Given the description of an element on the screen output the (x, y) to click on. 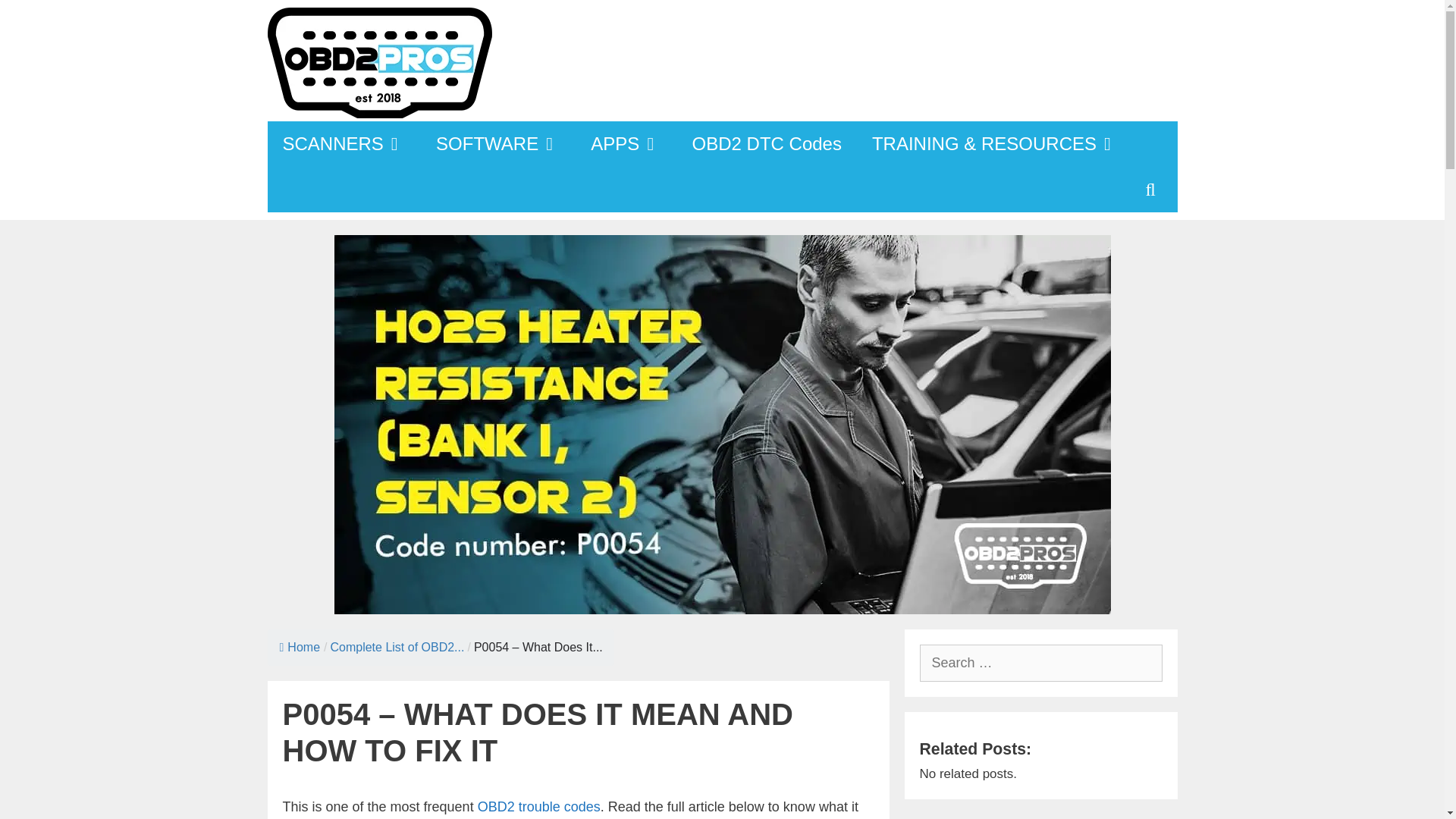
SCANNERS (343, 144)
APPS (626, 144)
SOFTWARE (497, 144)
Search for: (1039, 662)
